Given the description of an element on the screen output the (x, y) to click on. 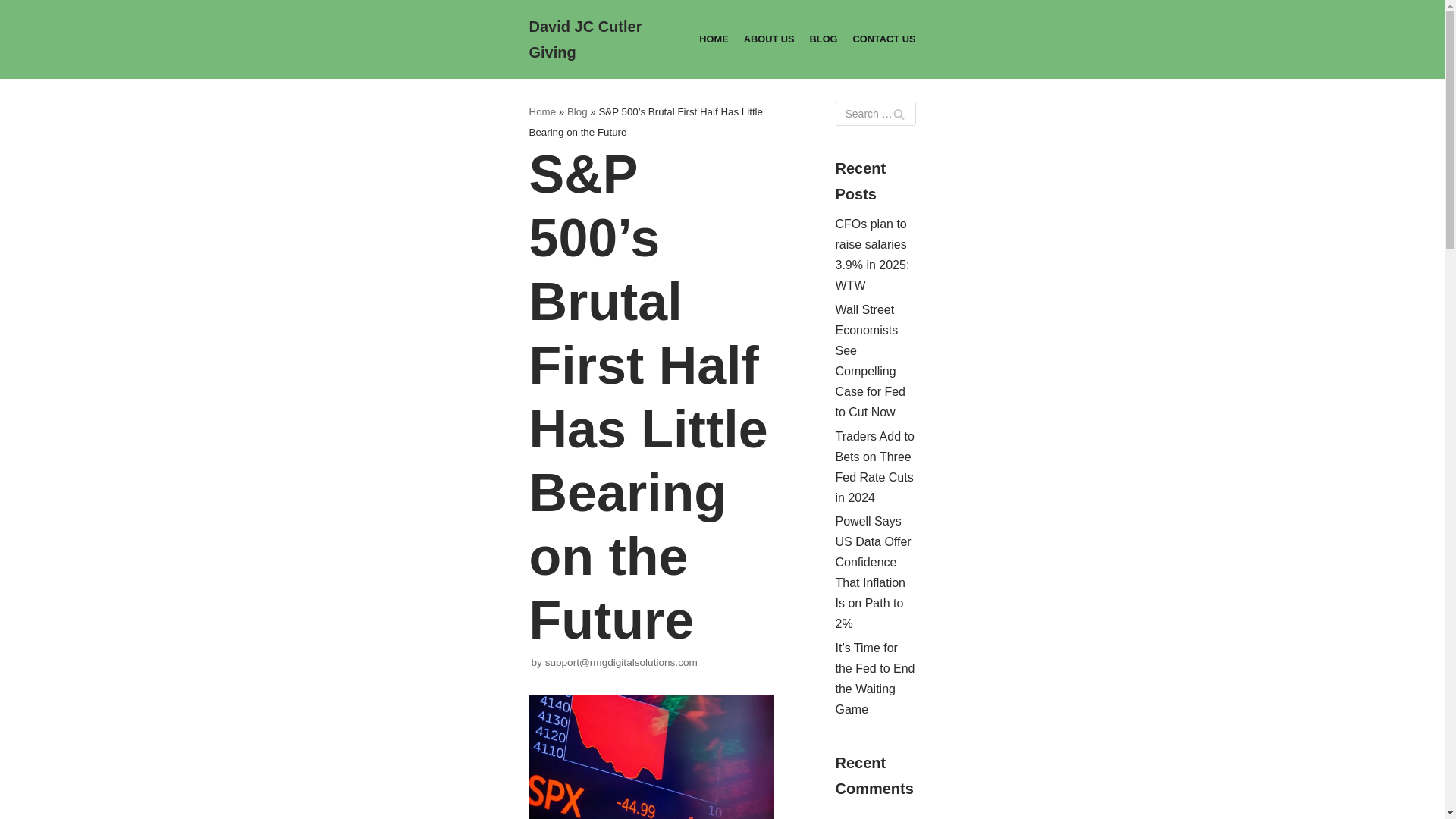
David JC Cutler Giving (586, 39)
ABOUT US (769, 39)
David JC Cutler Giving (586, 39)
Search (897, 113)
HOME (713, 39)
CONTACT US (884, 39)
BLOG (823, 39)
Blog (577, 111)
Home (542, 111)
Traders Add to Bets on Three Fed Rate Cuts in 2024 (874, 466)
Skip to content (15, 31)
Search (897, 113)
Search (897, 113)
